Given the description of an element on the screen output the (x, y) to click on. 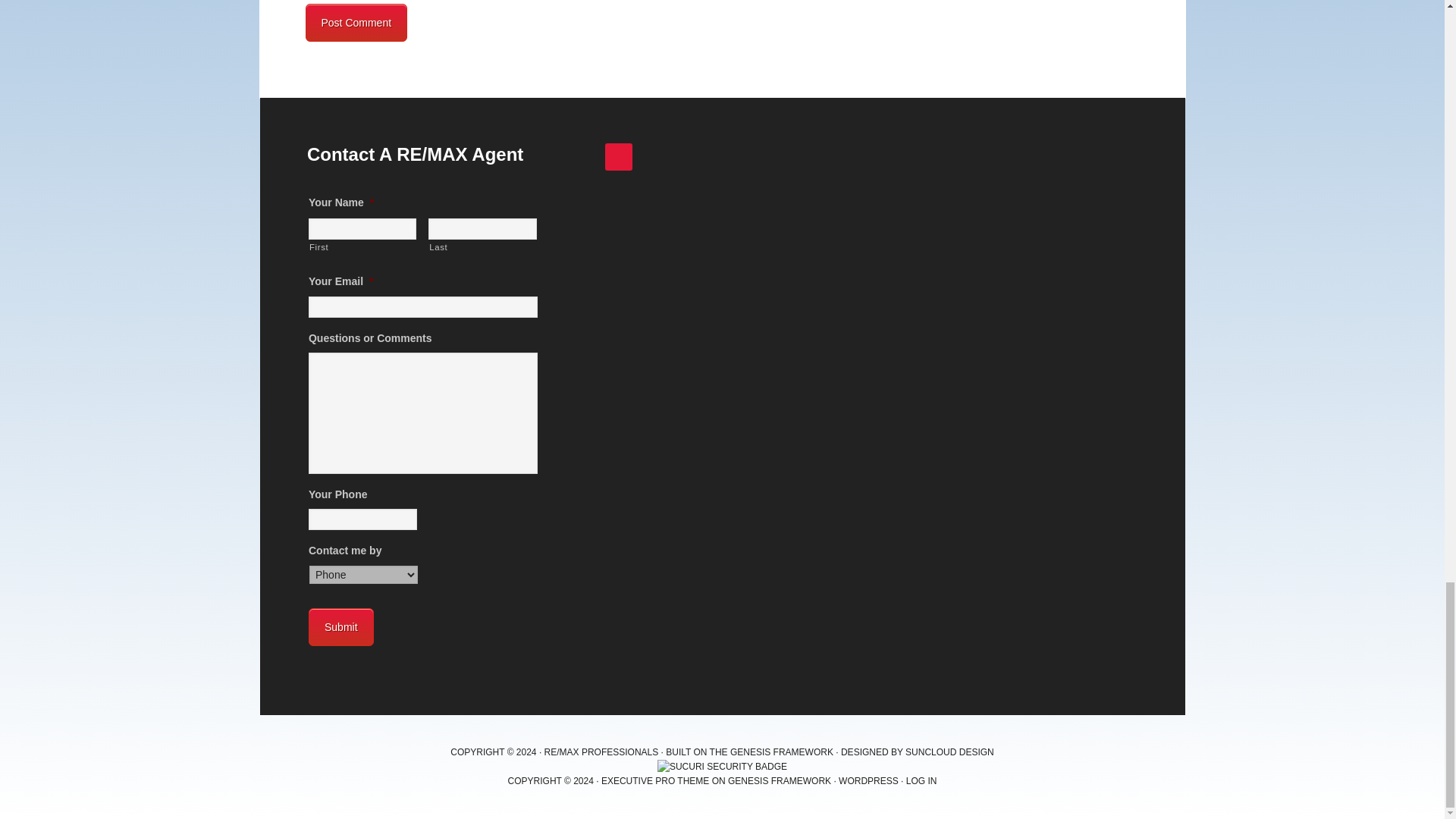
Genesis Framework (781, 751)
Post Comment (355, 22)
Submit (341, 627)
SunCloud Design (949, 751)
